Given the description of an element on the screen output the (x, y) to click on. 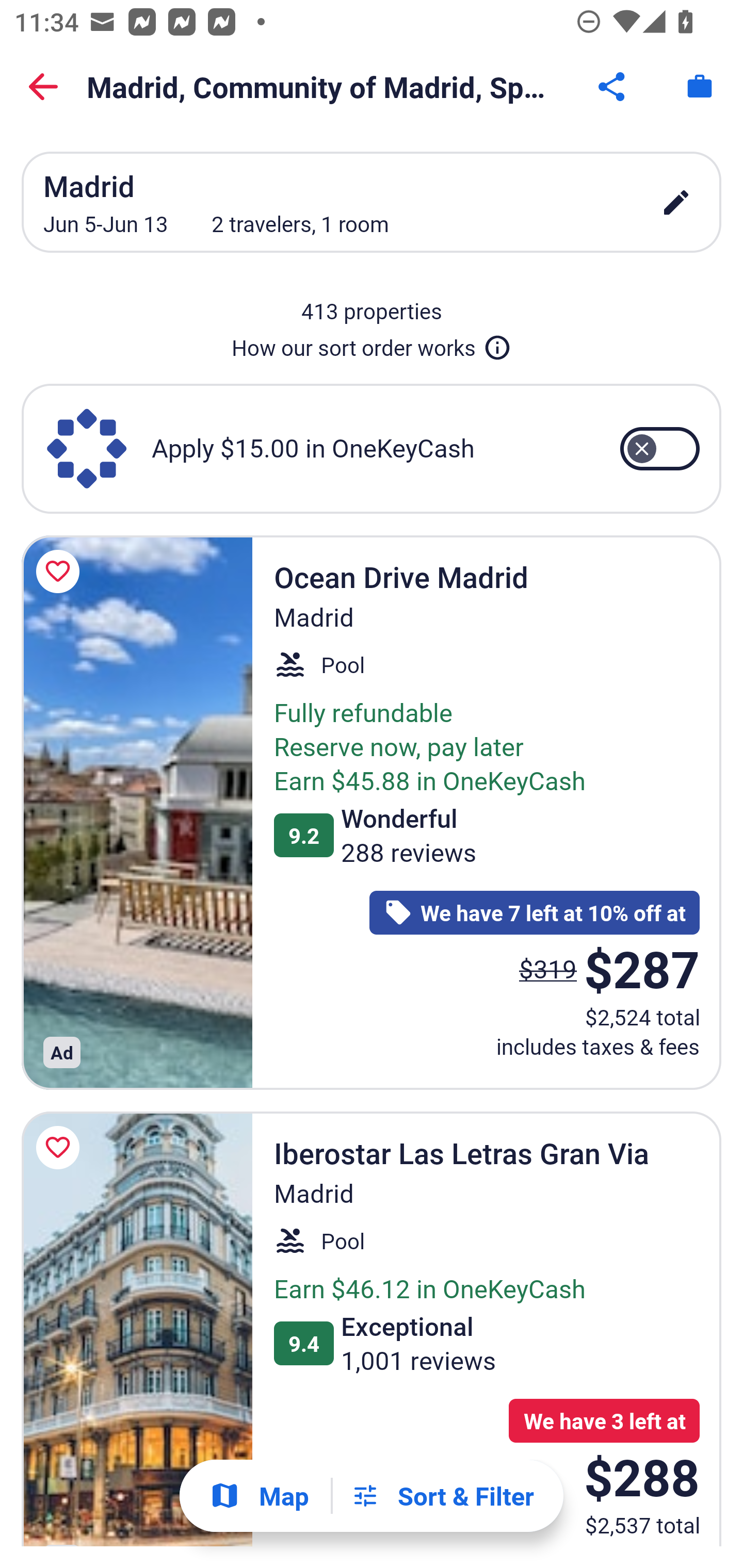
Back (43, 86)
Share Button (612, 86)
Trips. Button (699, 86)
Madrid Jun 5-Jun 13 2 travelers, 1 room edit (371, 202)
How our sort order works (371, 344)
Save Ocean Drive Madrid to a trip (61, 571)
Ocean Drive Madrid (136, 811)
$319 The price was $319 (547, 968)
Save Iberostar Las Letras Gran Via to a trip (61, 1147)
Iberostar Las Letras Gran Via (136, 1328)
Filters Sort & Filter Filters Button (442, 1495)
Show map Map Show map Button (258, 1495)
